Given the description of an element on the screen output the (x, y) to click on. 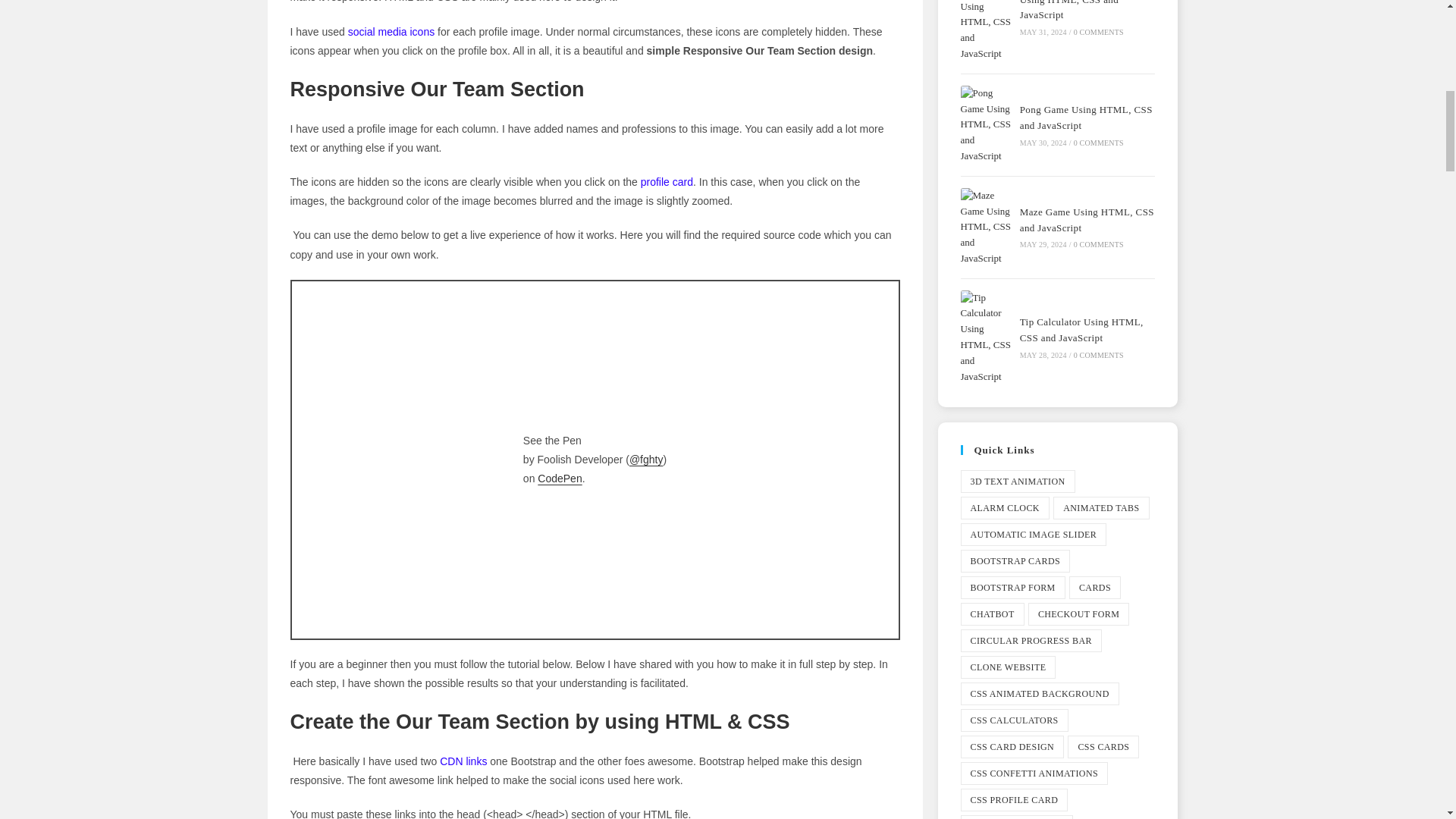
CodePen (558, 478)
